Given the description of an element on the screen output the (x, y) to click on. 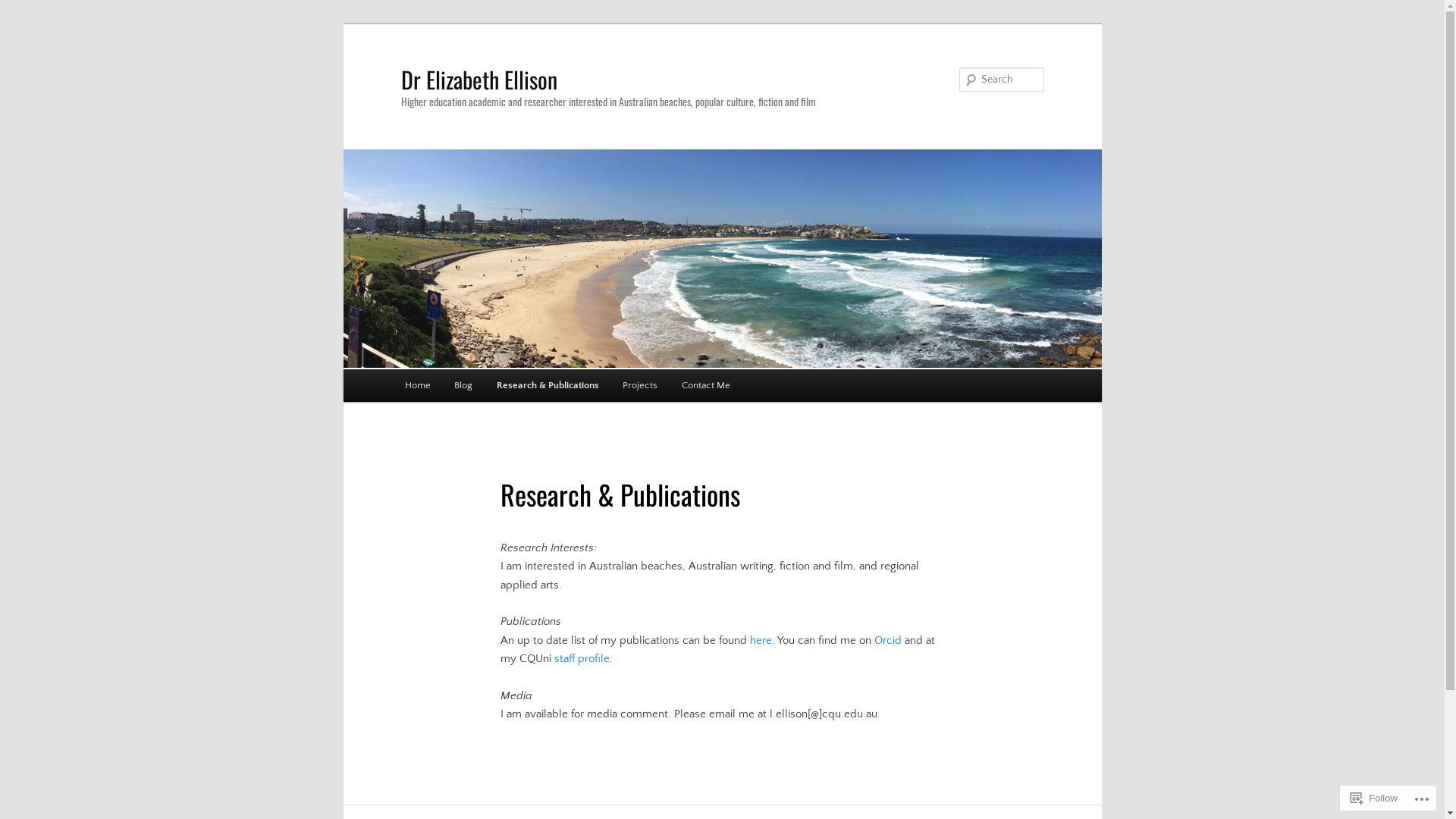
here Element type: text (760, 639)
Blog Element type: text (463, 385)
Orcid Element type: text (887, 639)
staff profile Element type: text (581, 658)
Home Element type: text (417, 385)
Projects Element type: text (639, 385)
Contact Me Element type: text (705, 385)
Like or Reblog Element type: hover (721, 769)
Skip to primary content Element type: text (22, 22)
Search Element type: text (22, 8)
Research & Publications Element type: text (547, 385)
Dr Elizabeth Ellison Element type: text (478, 79)
Follow Element type: text (1373, 797)
